Given the description of an element on the screen output the (x, y) to click on. 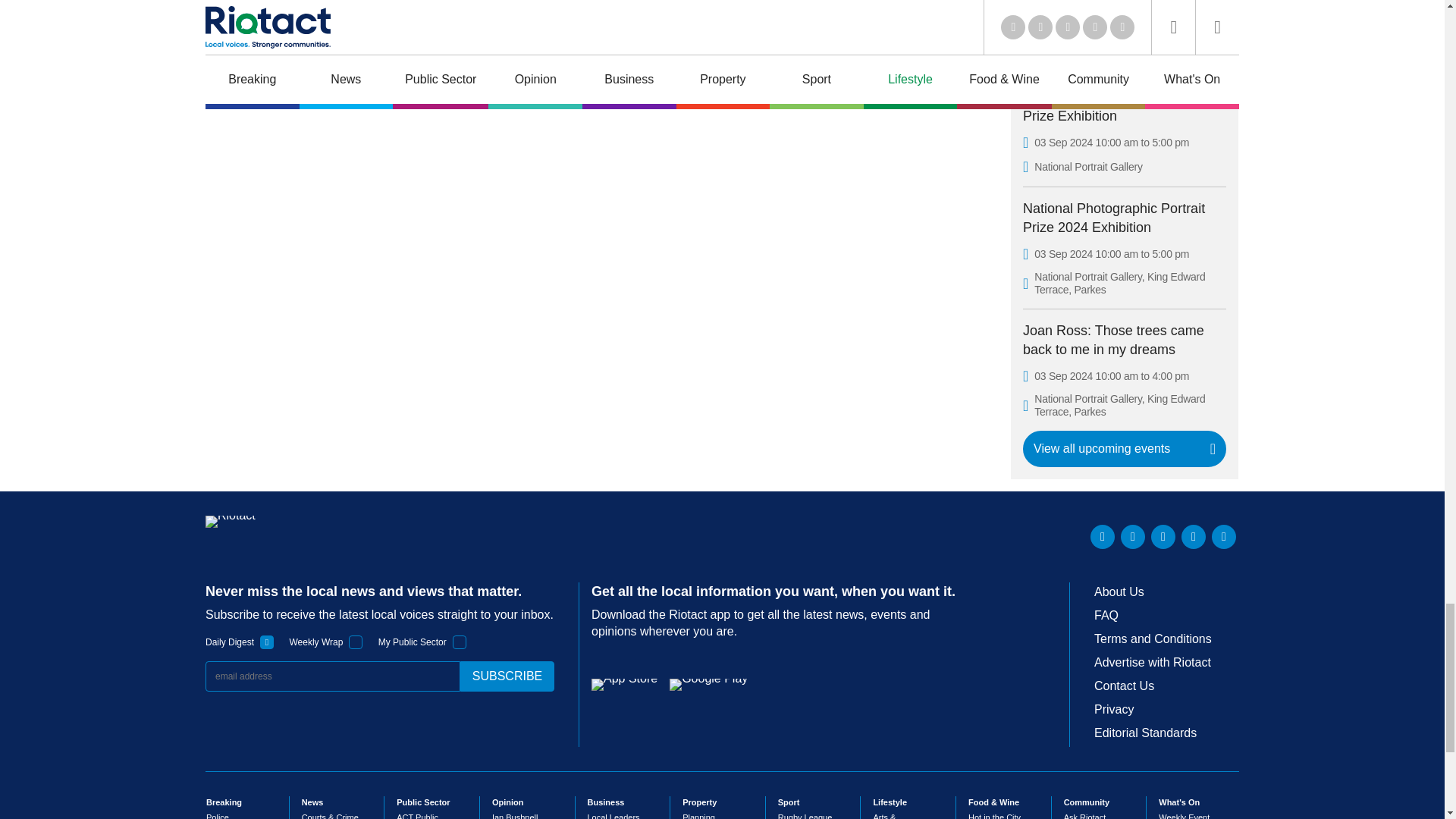
1 (266, 642)
subscribe (507, 675)
Twitter (1132, 536)
App Store (624, 684)
LinkedIn (1102, 536)
Instagram (1223, 536)
1 (458, 642)
Facebook (1192, 536)
1 (355, 642)
Youtube (1162, 536)
